Given the description of an element on the screen output the (x, y) to click on. 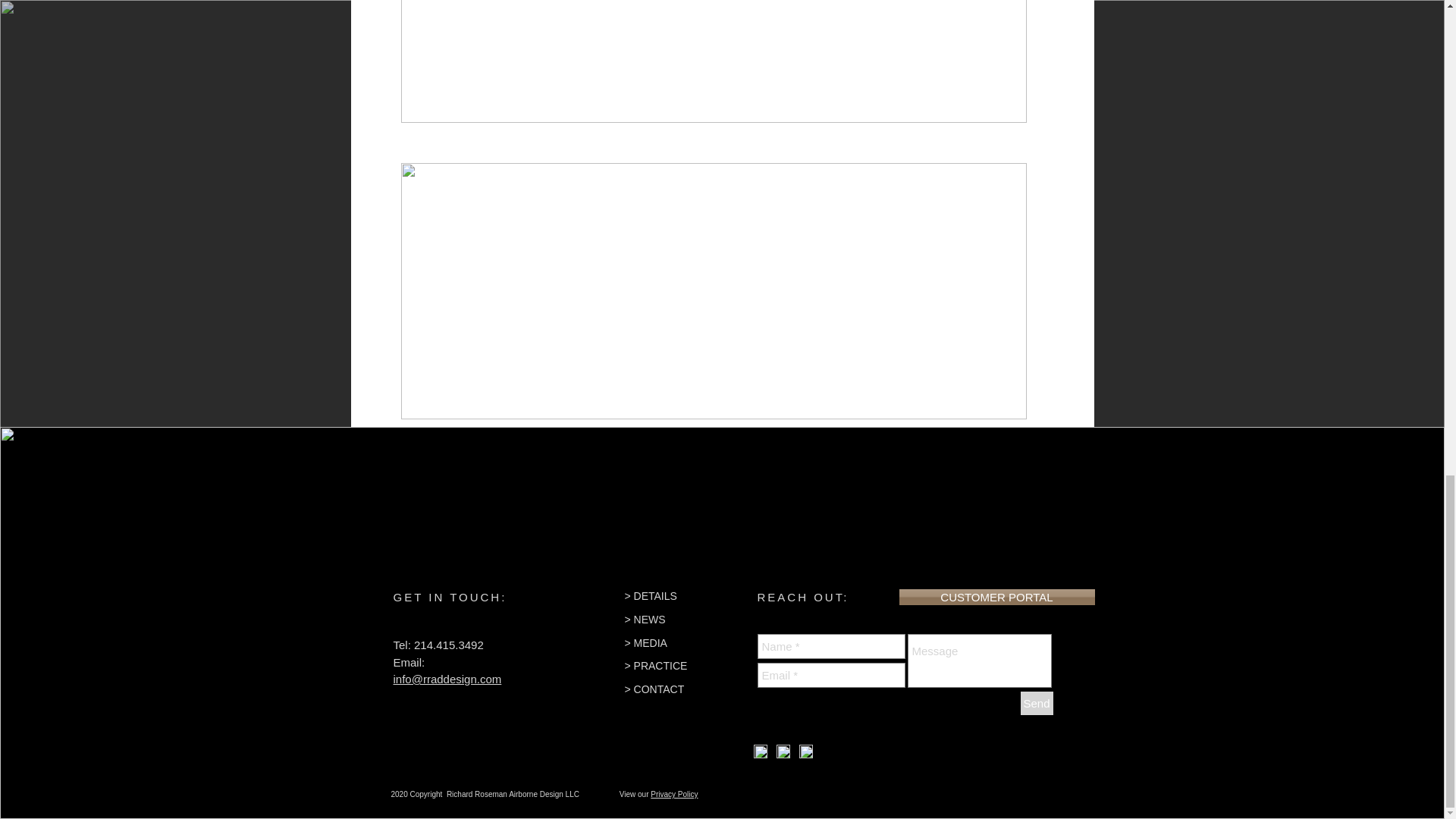
Privacy Policy (673, 794)
Send (1036, 702)
CUSTOMER PORTAL (996, 596)
